Given the description of an element on the screen output the (x, y) to click on. 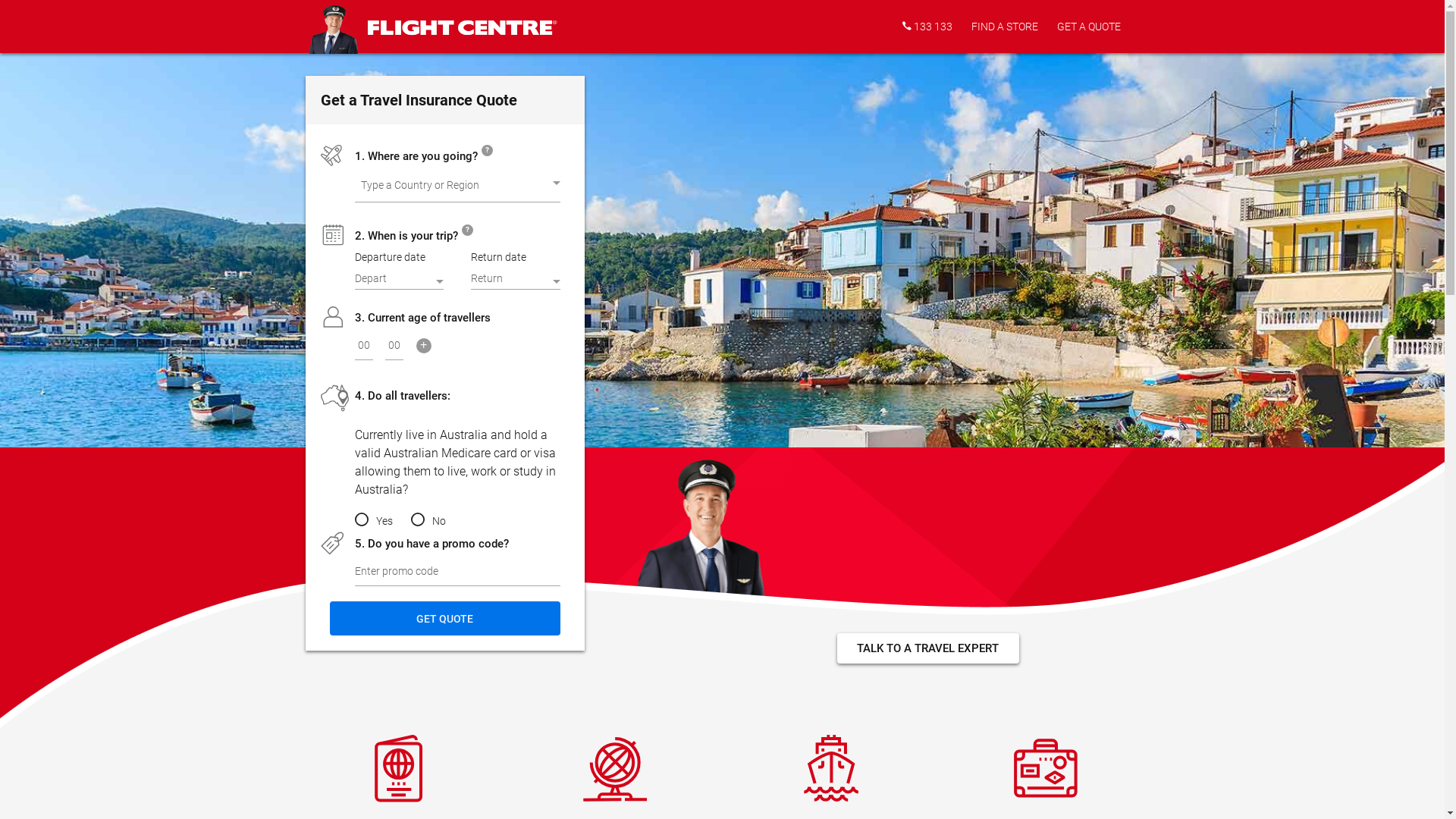
TALK TO A TRAVEL EXPERT Element type: text (928, 648)
? Element type: text (467, 231)
Get Quote Element type: text (444, 618)
? Element type: text (486, 151)
FIND A STORE Element type: text (1003, 26)
+ Element type: text (423, 346)
GET A QUOTE Element type: text (1088, 26)
Skip to main content Element type: text (0, 0)
133 133 Element type: text (927, 26)
